Given the description of an element on the screen output the (x, y) to click on. 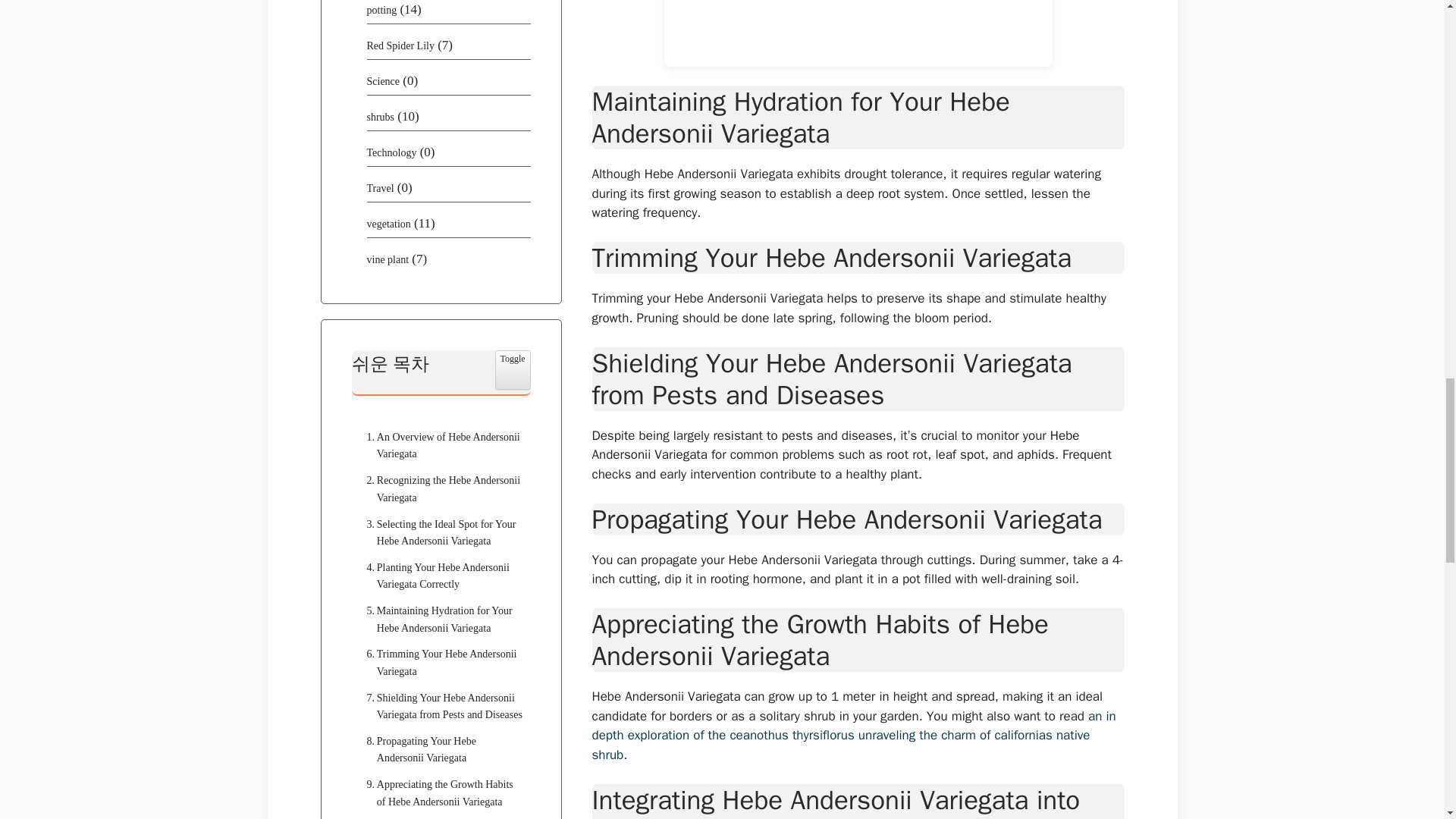
Recognizing the Hebe Andersonii Variegata (440, 489)
An Overview of Hebe Andersonii Variegata (440, 446)
Selecting the Ideal Spot for Your Hebe Andersonii Variegata (440, 533)
